Given the description of an element on the screen output the (x, y) to click on. 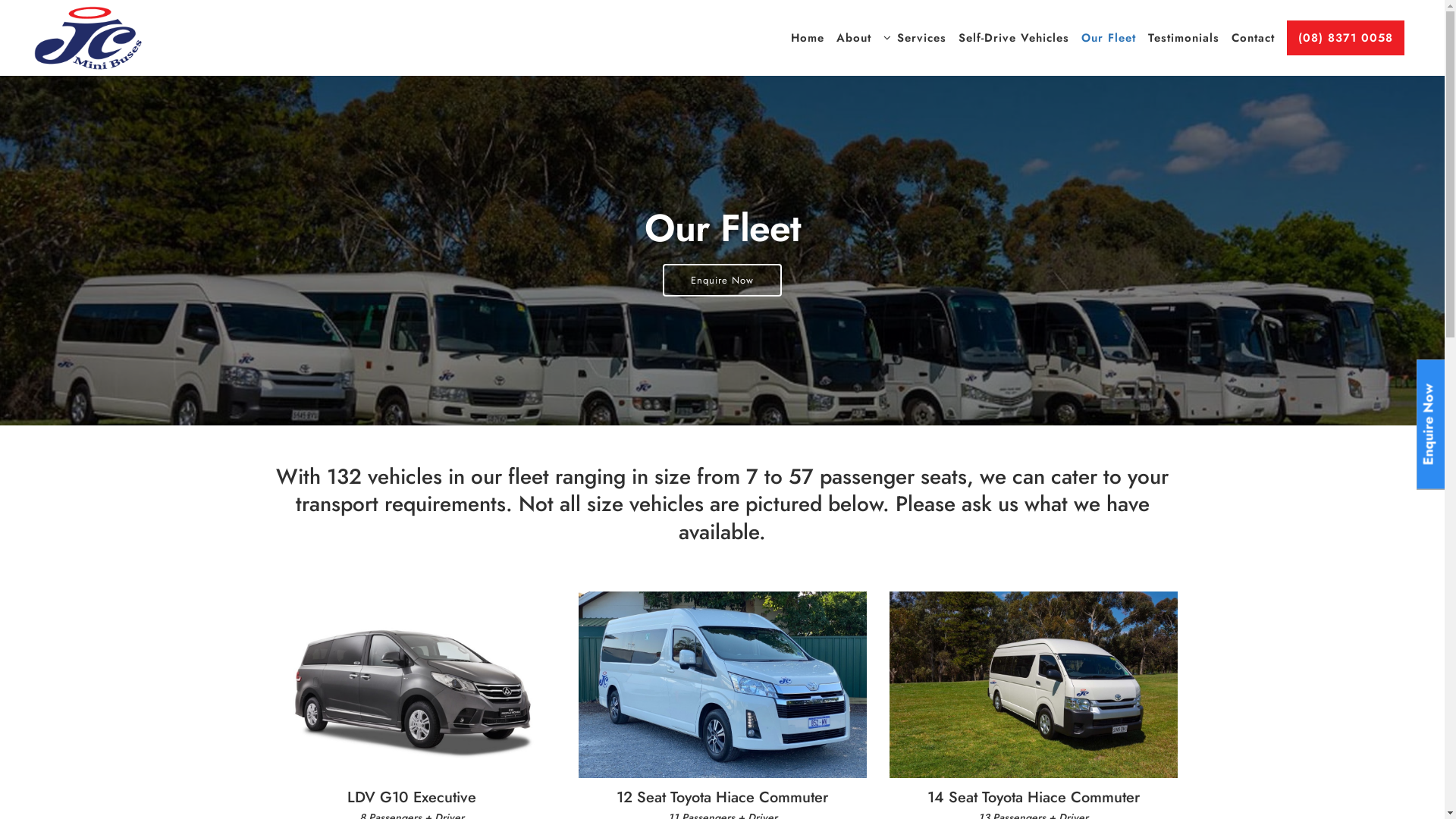
Home Element type: text (807, 37)
Contact Element type: text (1252, 37)
About Element type: text (853, 37)
(08) 8371 0058 Element type: text (1345, 37)
Enquire Now Element type: text (721, 279)
Services Element type: text (914, 37)
Testimonials Element type: text (1183, 37)
Our Fleet Element type: text (1108, 37)
Self-Drive Vehicles Element type: text (1013, 37)
